Given the description of an element on the screen output the (x, y) to click on. 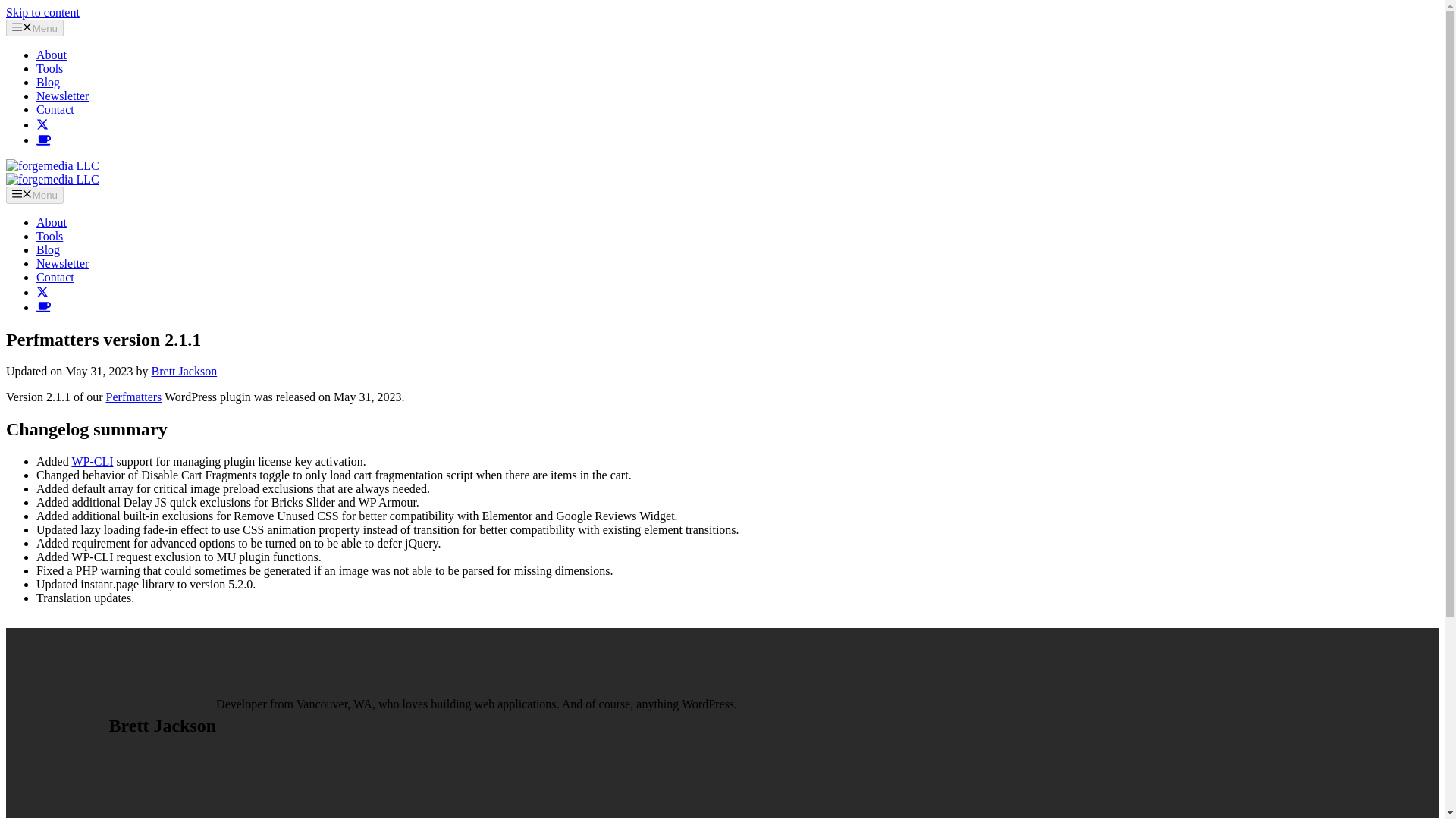
Blog (47, 249)
About (51, 222)
Tools (49, 68)
Blog (47, 82)
Perfmatters (133, 396)
About (51, 54)
Newsletter (62, 95)
Brett Jackson (183, 370)
Contact (55, 277)
forgemedia LLC (52, 178)
